Given the description of an element on the screen output the (x, y) to click on. 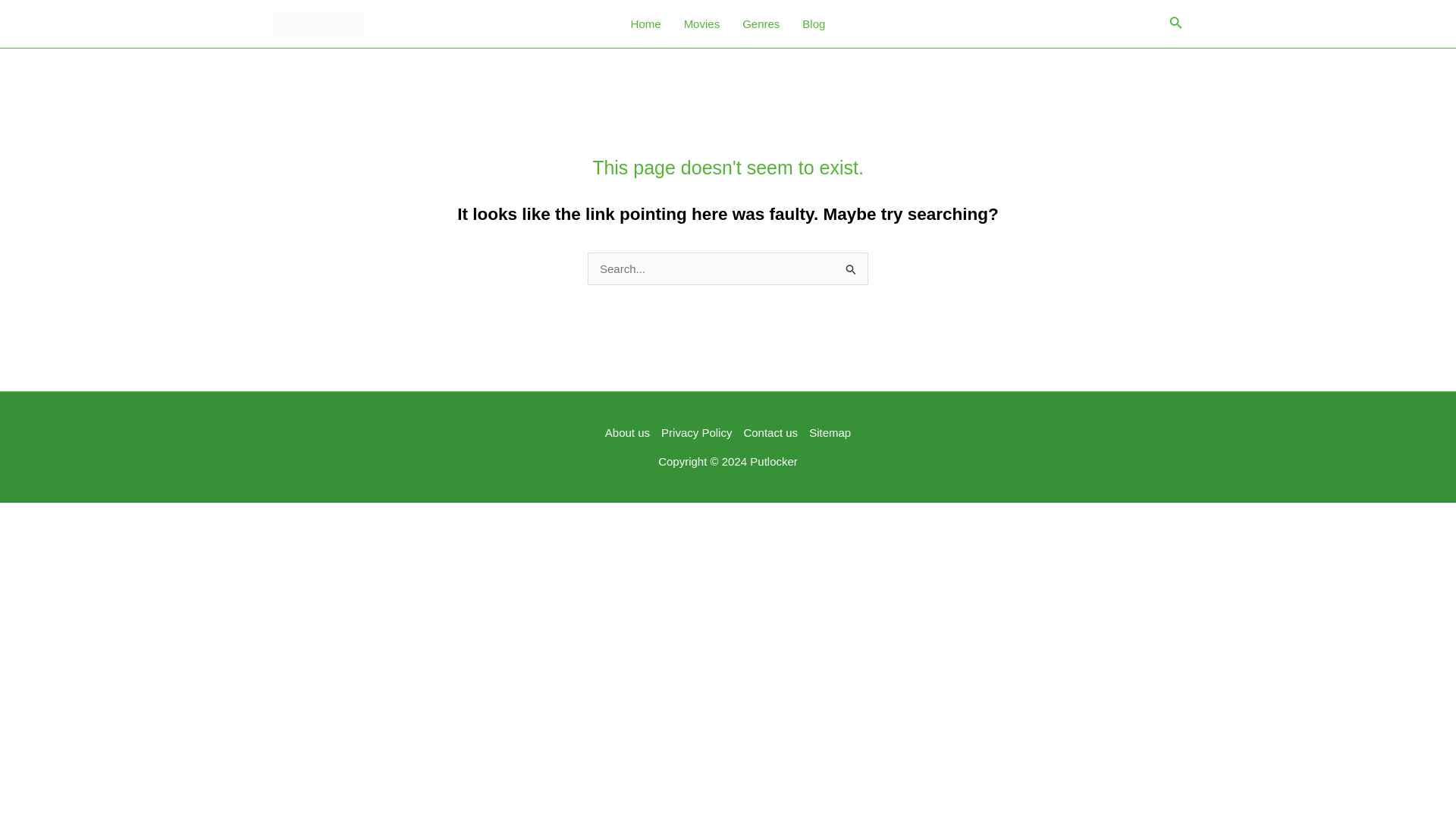
Search (850, 267)
Blog (812, 23)
Search (850, 267)
Movies (702, 23)
About us (630, 432)
Contact us (770, 432)
Home (646, 23)
Privacy Policy (697, 432)
Search (850, 267)
Genres (760, 23)
Sitemap (827, 432)
